Given the description of an element on the screen output the (x, y) to click on. 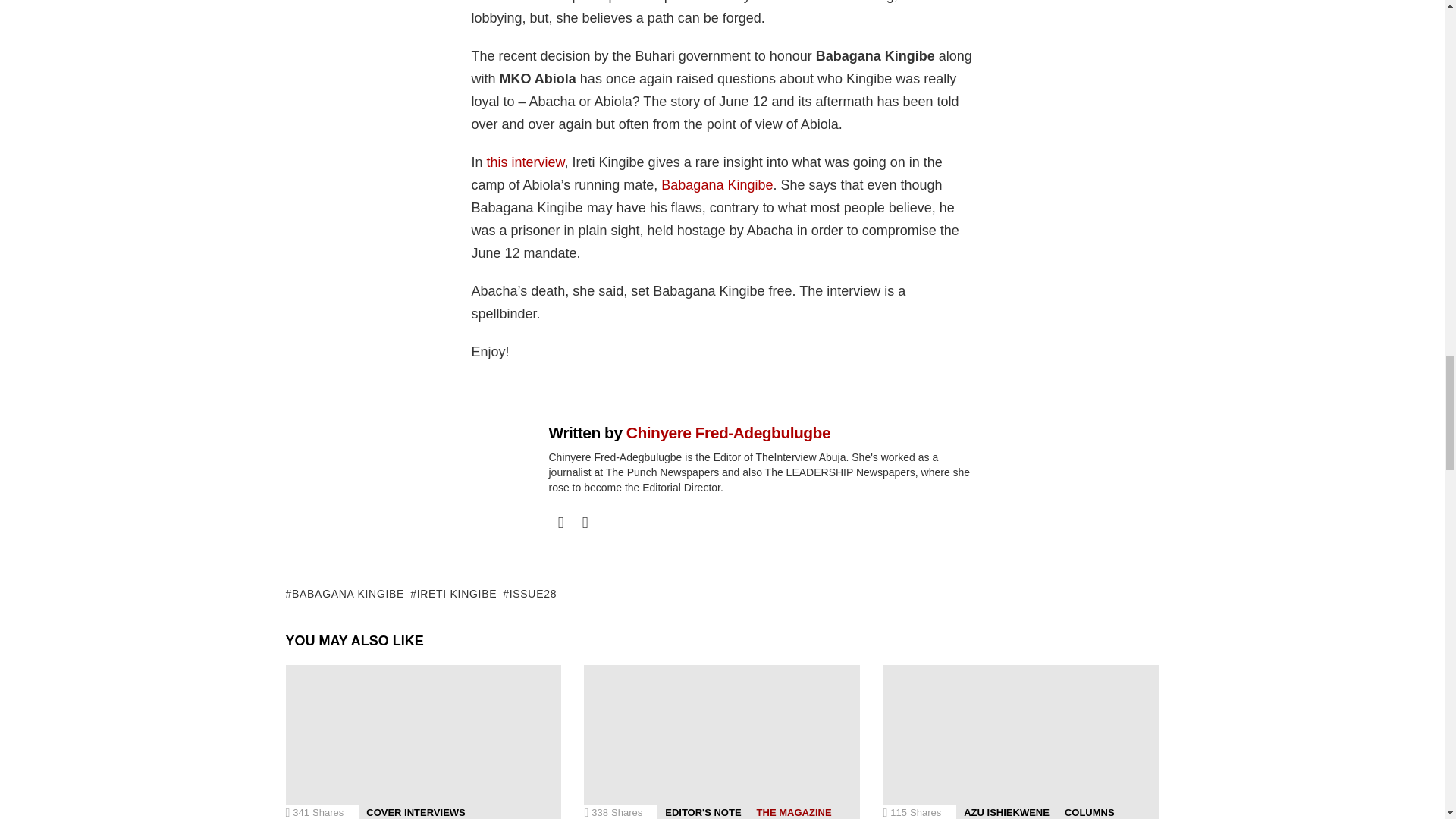
facebook (560, 522)
linkedin (584, 522)
BABAGANA KINGIBE (344, 593)
Babagana Kingibe (717, 184)
IRETI KINGIBE (453, 593)
Chinyere Fred-Adegbulugbe (727, 432)
ISSUE28 (529, 593)
this interview (525, 161)
